Given the description of an element on the screen output the (x, y) to click on. 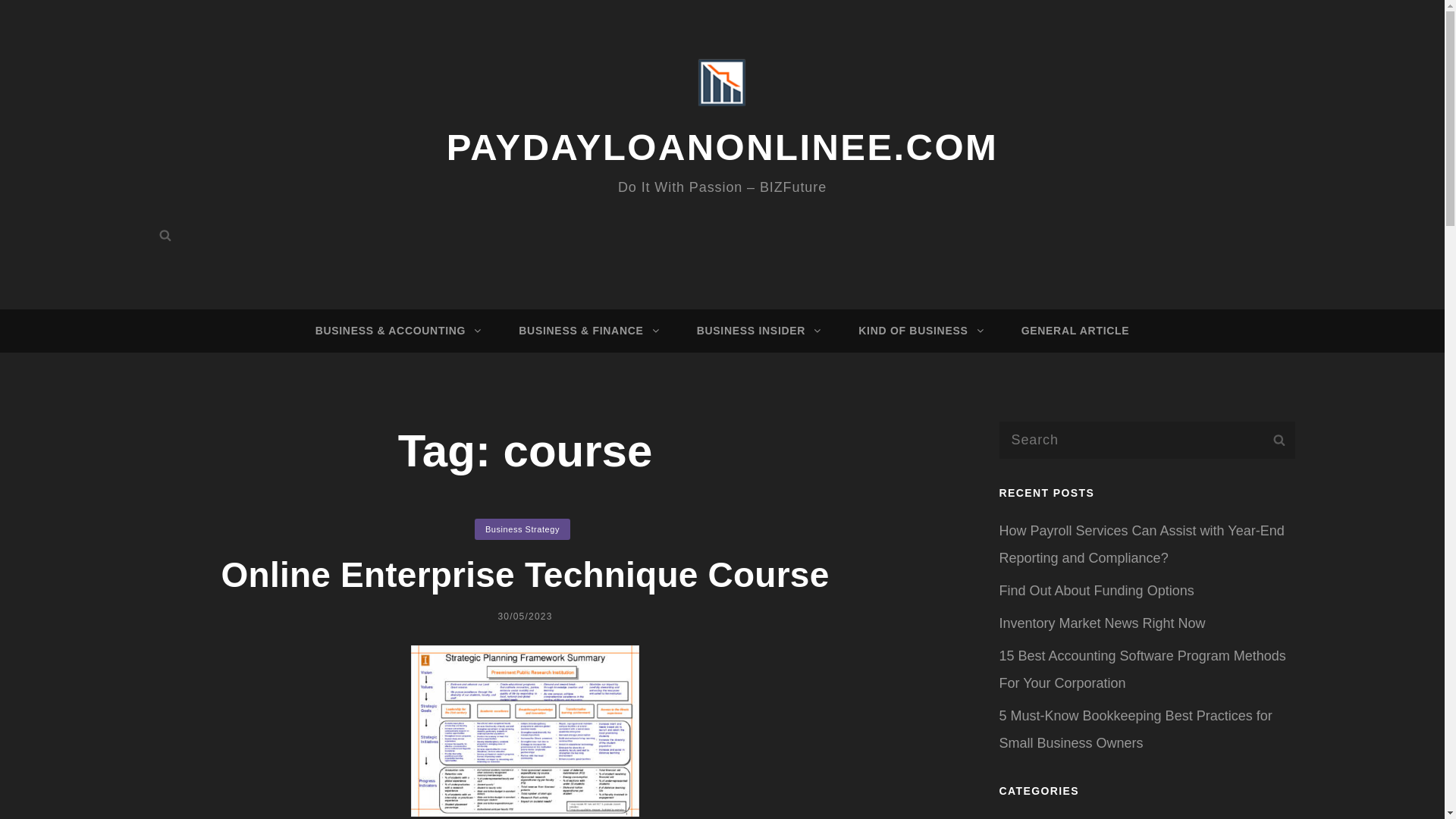
Search (164, 234)
PAYDAYLOANONLINEE.COM (722, 146)
KIND OF BUSINESS (918, 330)
Business Strategy (522, 528)
GENERAL ARTICLE (1075, 330)
BUSINESS INSIDER (756, 330)
Online Enterprise Technique Course (525, 574)
